Given the description of an element on the screen output the (x, y) to click on. 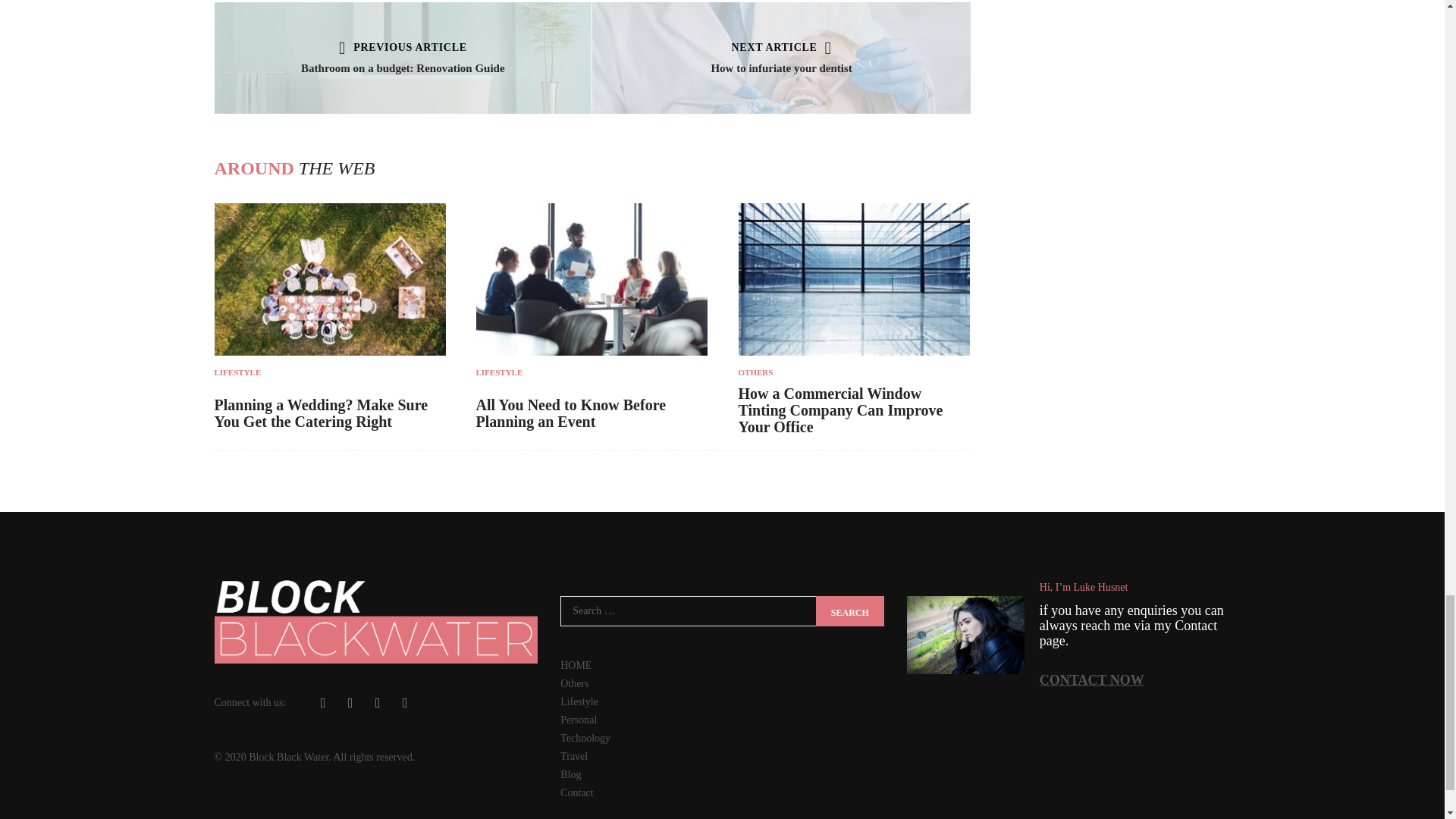
PREVIOUS ARTICLE (403, 47)
How to infuriate your dentist (780, 68)
LIFESTYLE (329, 372)
NEXT ARTICLE (781, 47)
Bathroom on a budget: Renovation Guide (403, 68)
